Given the description of an element on the screen output the (x, y) to click on. 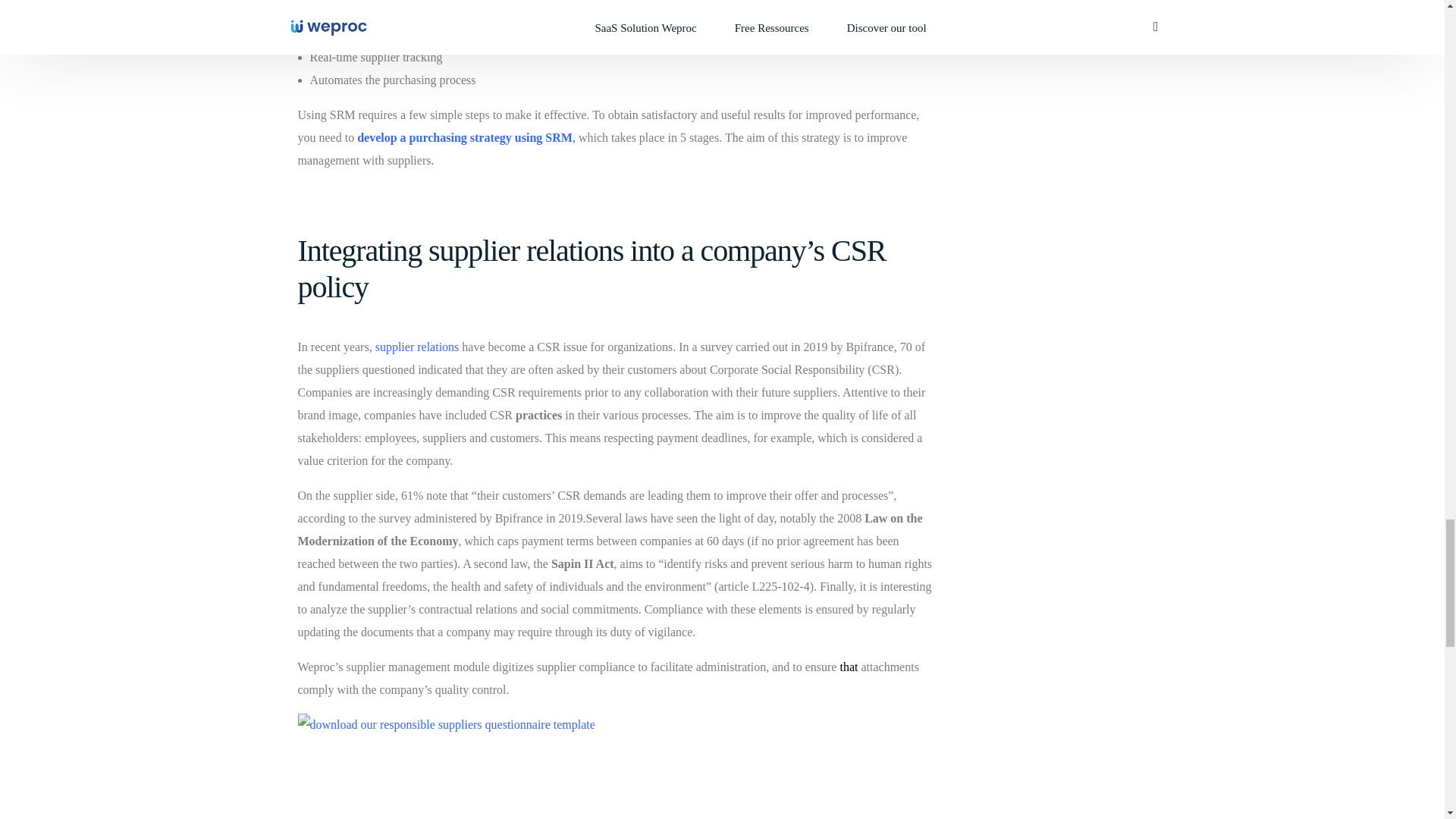
supplier relations (417, 346)
develop a purchasing strategy using SRM (464, 137)
